Given the description of an element on the screen output the (x, y) to click on. 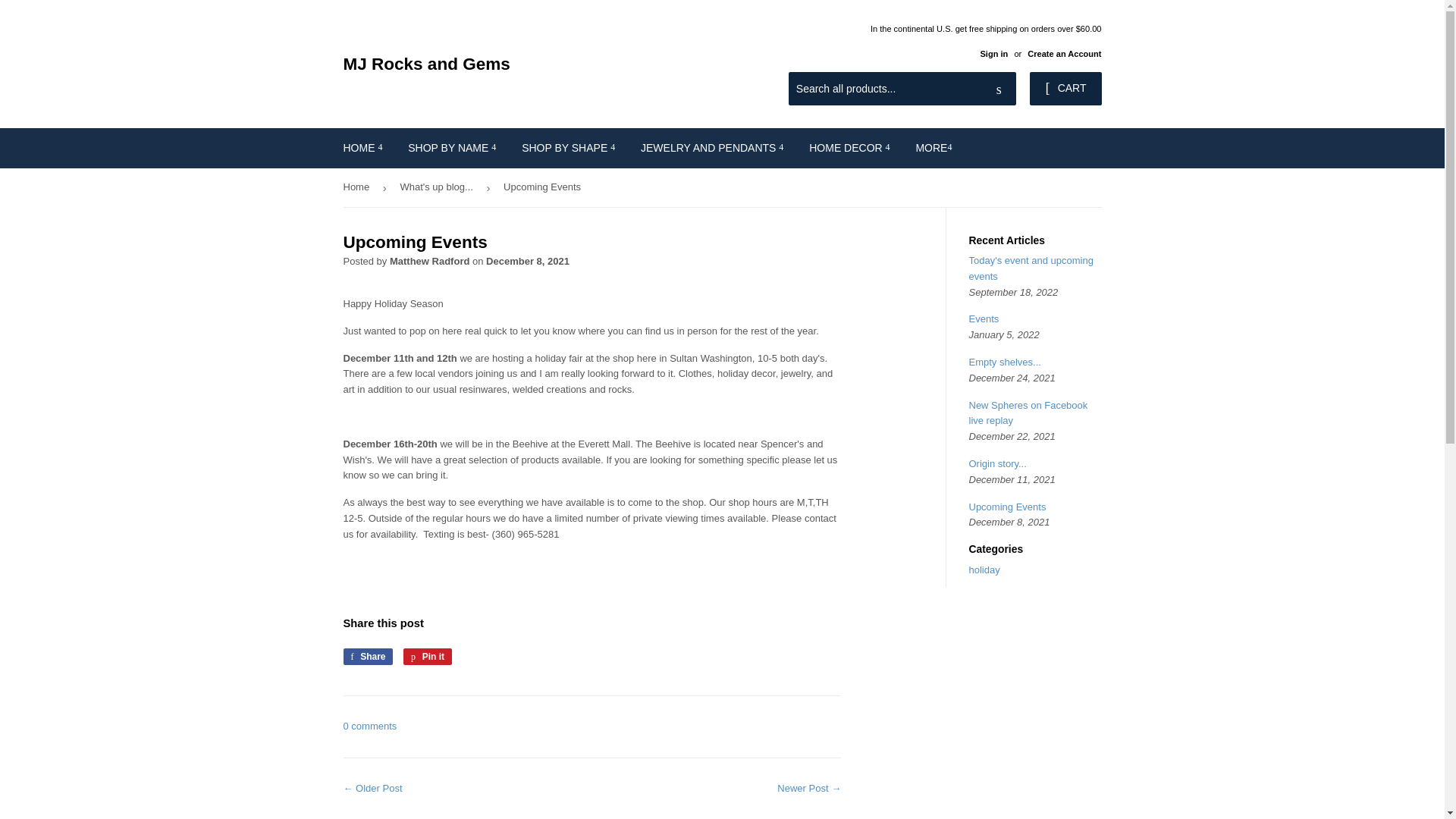
Create an Account (1063, 53)
MJ Rocks and Gems (532, 64)
Show articles tagged holiday (984, 569)
Search (998, 89)
Sign in (993, 53)
CART (1064, 88)
Back to the frontpage (358, 187)
Pin on Pinterest (427, 656)
Share on Facebook (367, 656)
